Given the description of an element on the screen output the (x, y) to click on. 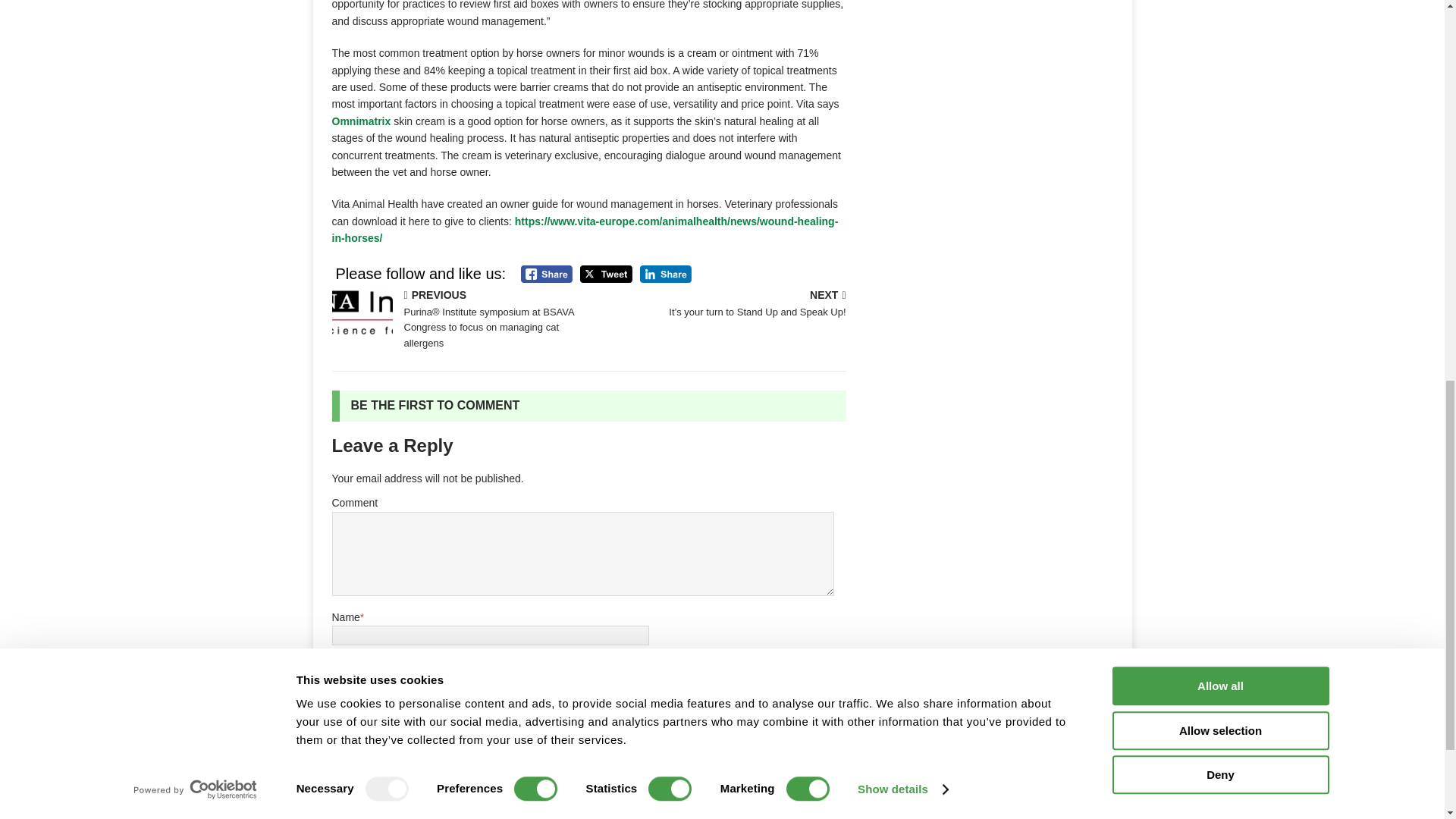
Facebook Share (546, 273)
Tweet (605, 273)
Post Comment (388, 790)
yes (339, 750)
Share (665, 273)
